Given the description of an element on the screen output the (x, y) to click on. 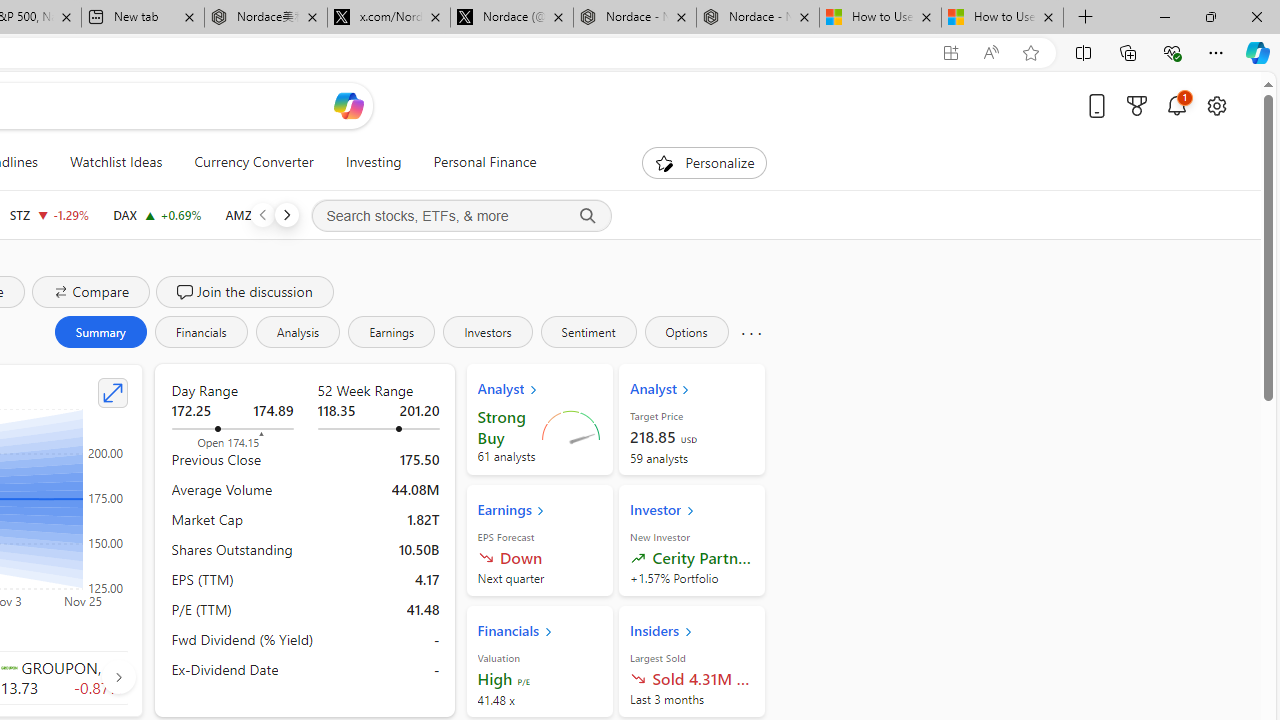
DAX DAX increase 18,810.38 +128.57 +0.69% (157, 214)
Search stocks, ETFs, & more (461, 215)
Watchlist Ideas (115, 162)
Compare (90, 291)
Previous (262, 214)
Notifications (1176, 105)
Investing (373, 162)
Next (286, 214)
